Given the description of an element on the screen output the (x, y) to click on. 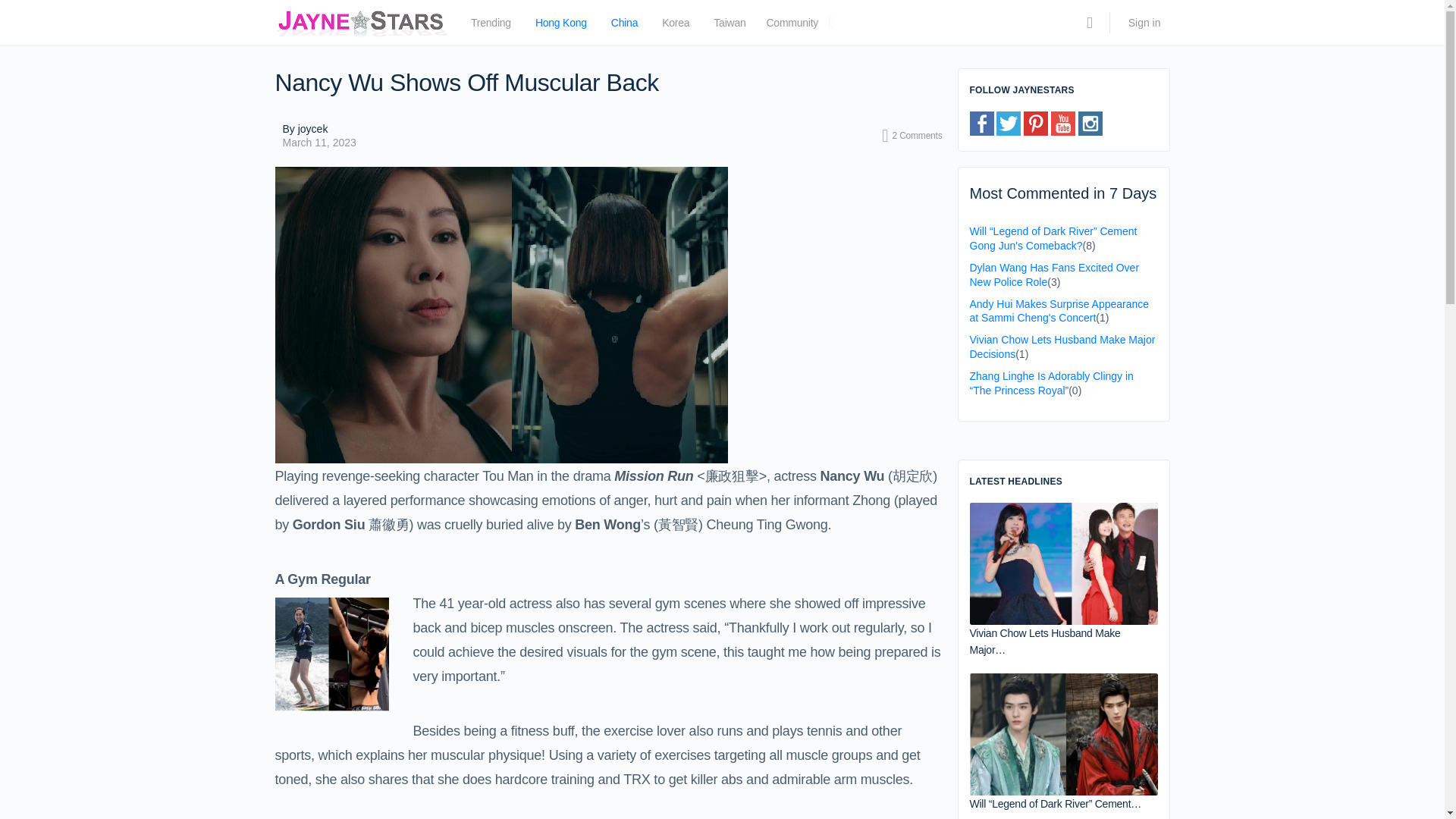
Trending (490, 25)
Taiwan (729, 25)
Sign in (1144, 22)
Korea (675, 25)
2 Comments (912, 135)
March 11, 2023 (318, 142)
Twitter (1007, 122)
Facebook (980, 122)
Instagram (1090, 122)
Hong Kong (560, 25)
China (624, 25)
Community (791, 25)
Youtube (1063, 122)
Pinterest (1035, 122)
By joycek (318, 128)
